Given the description of an element on the screen output the (x, y) to click on. 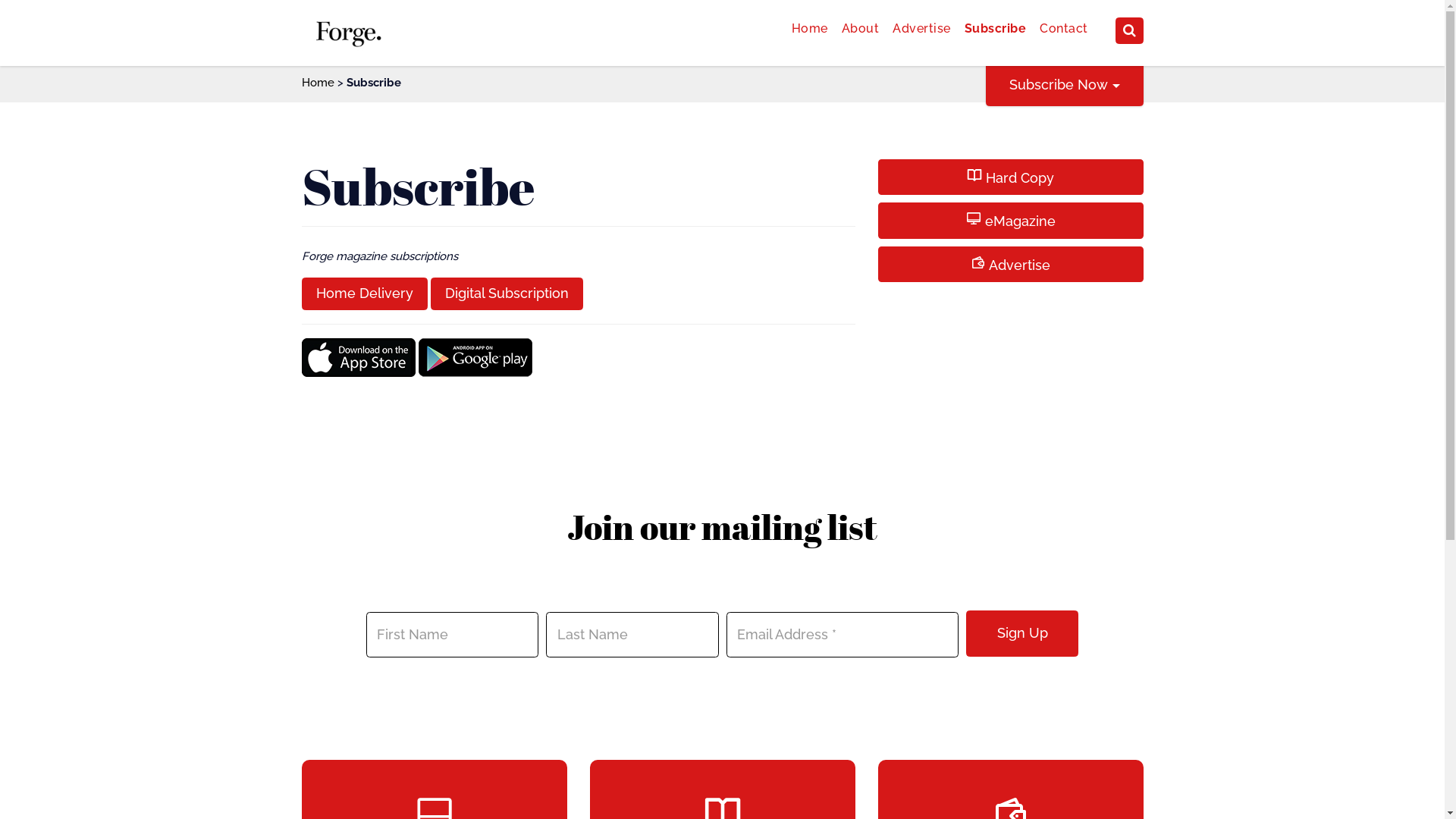
Home Element type: text (809, 28)
Hard Copy Element type: text (1010, 177)
Subscribe Now Element type: text (1063, 85)
Home Element type: text (317, 82)
eMagazine Element type: text (1010, 220)
Sign Up Element type: text (1022, 633)
Search Element type: text (49, 48)
Home Delivery Element type: text (364, 293)
Contact Element type: text (1063, 28)
Digital Subscription Element type: text (506, 293)
Advertise Element type: text (1010, 263)
Subscribe Element type: text (995, 28)
Advertise Element type: text (921, 28)
About Element type: text (860, 28)
Download Forge magazine on the Andoird Google play store Element type: hover (475, 356)
Download Forge magazine on the App Store Element type: hover (358, 356)
